Given the description of an element on the screen output the (x, y) to click on. 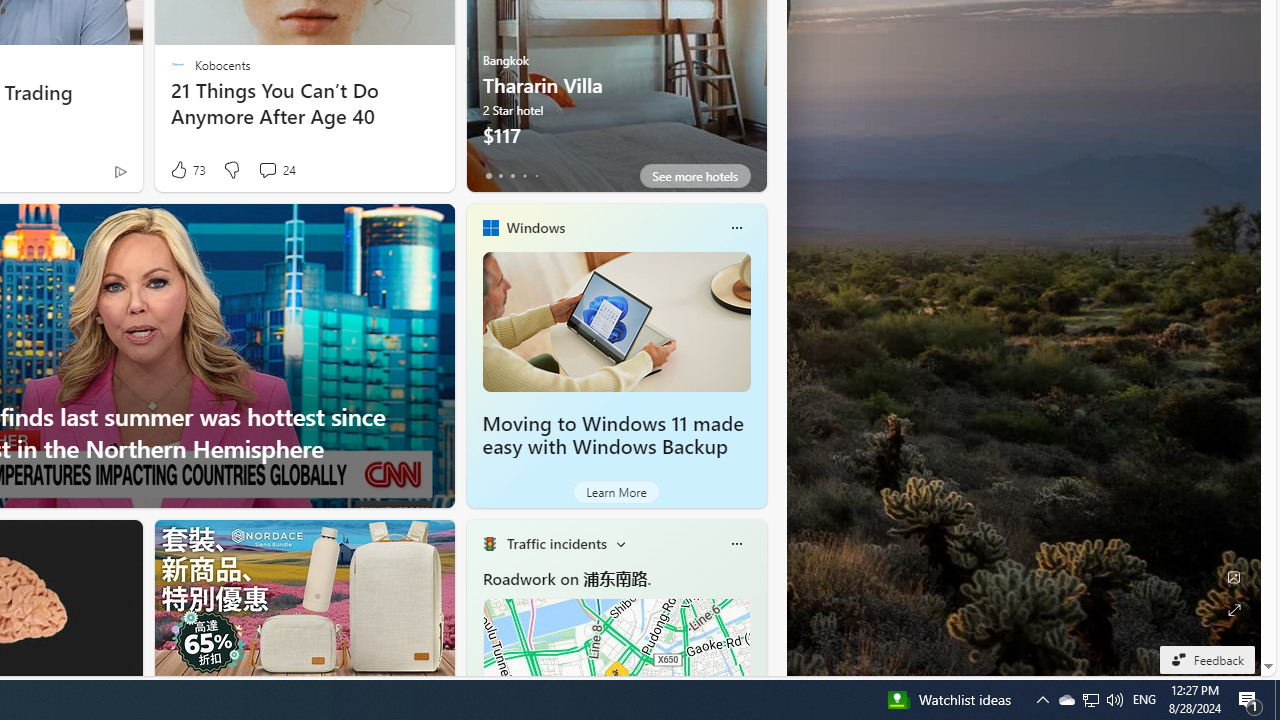
See more hotels (694, 175)
Edit Background (1233, 577)
View comments 24 Comment (276, 170)
Learn More (616, 491)
Traffic incidents (555, 543)
tab-2 (511, 175)
tab-3 (524, 175)
Windows (535, 227)
73 Like (186, 170)
Moving to Windows 11 made easy with Windows Backup (616, 321)
tab-4 (535, 175)
